Given the description of an element on the screen output the (x, y) to click on. 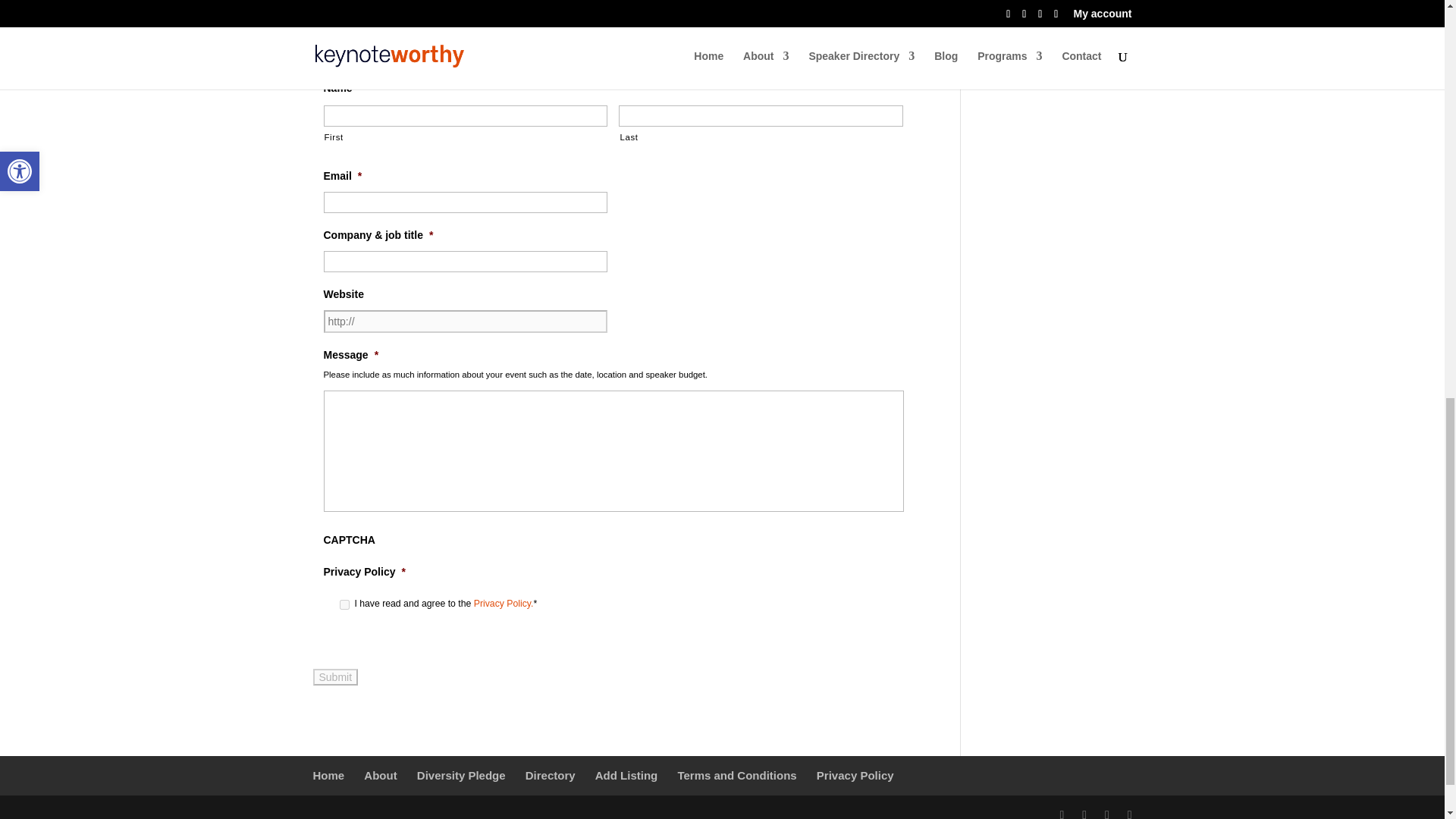
Add Listing (626, 775)
Home (328, 775)
About (380, 775)
Directory (550, 775)
Submit (335, 677)
Diversity Pledge (460, 775)
Privacy Policy. (504, 603)
Terms and Conditions (736, 775)
Submit (335, 677)
Privacy Policy (854, 775)
